Given the description of an element on the screen output the (x, y) to click on. 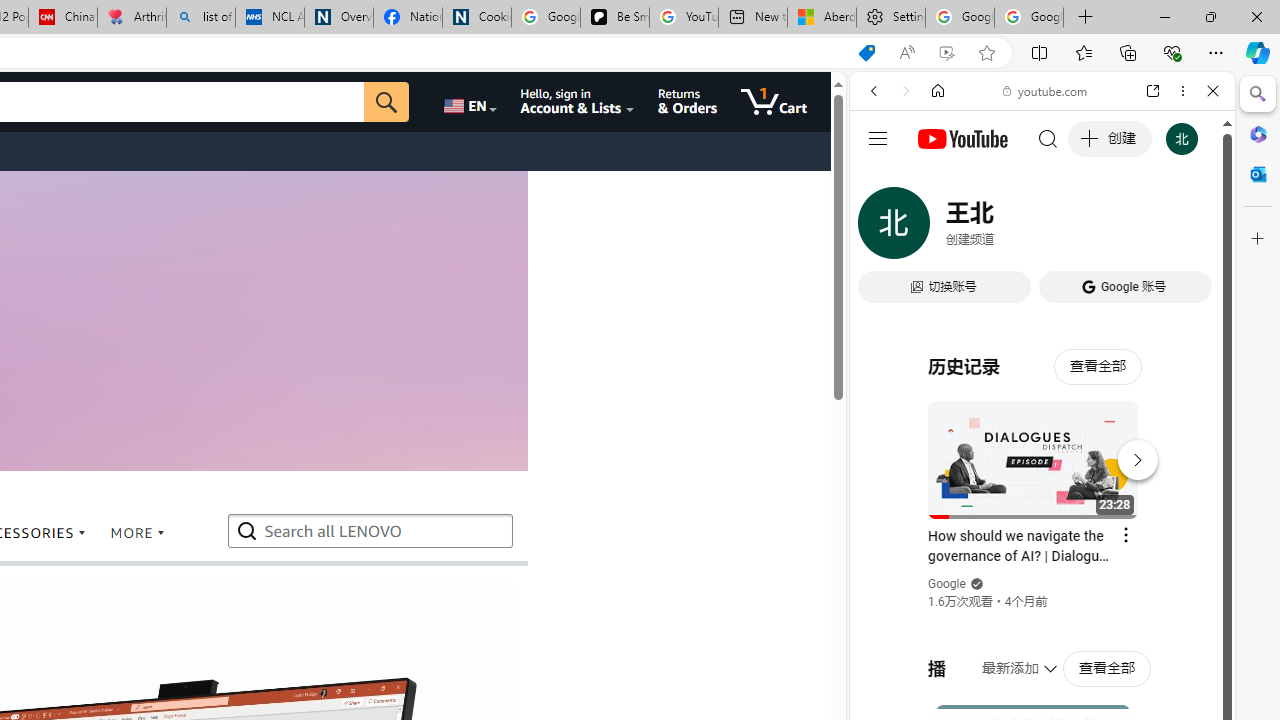
Search videos from youtube.com (1005, 657)
